Given the description of an element on the screen output the (x, y) to click on. 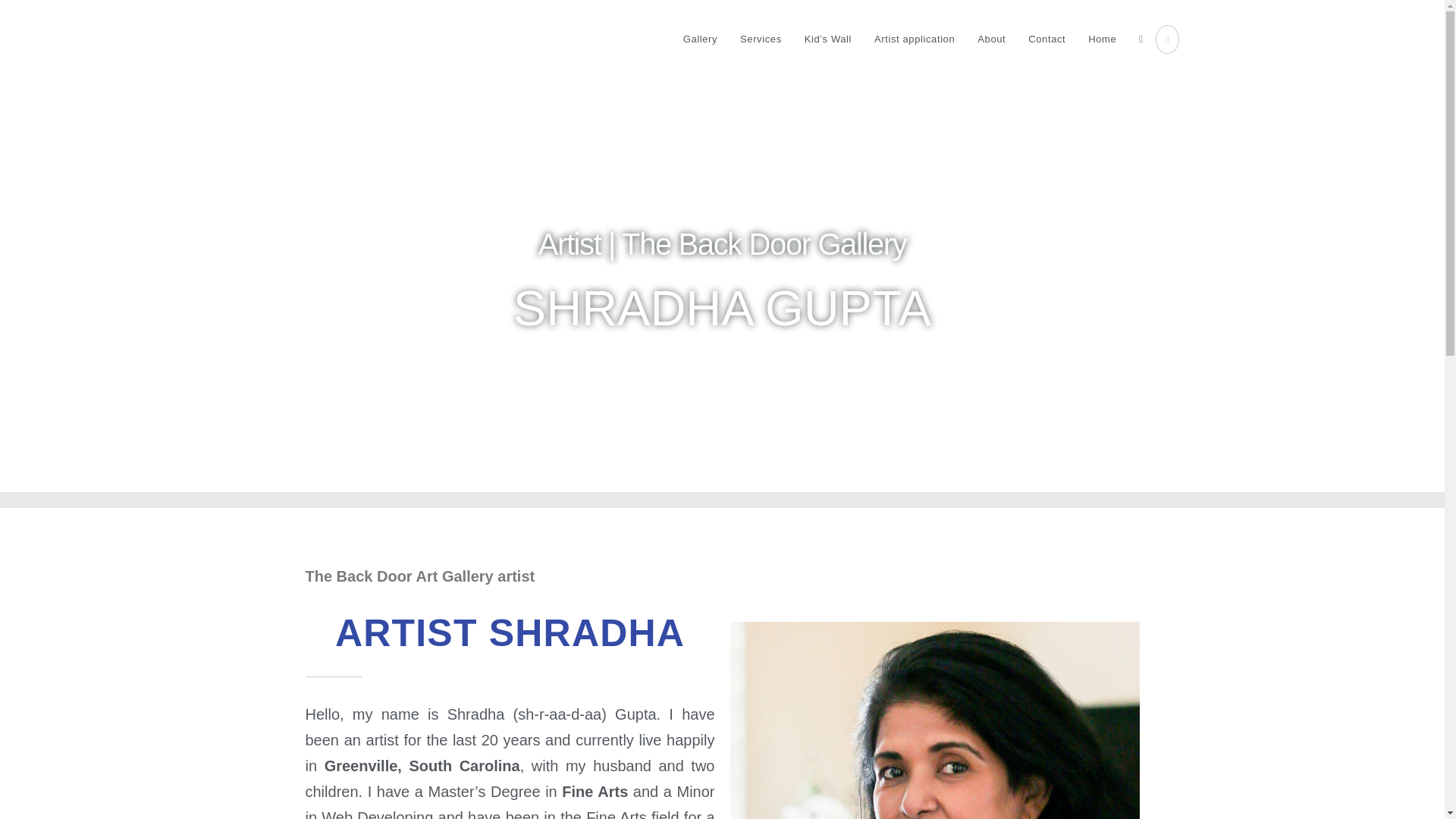
Home (1101, 39)
Gallery (700, 39)
Services (761, 39)
About (991, 39)
Artist application (914, 39)
Contact (1046, 39)
